Given the description of an element on the screen output the (x, y) to click on. 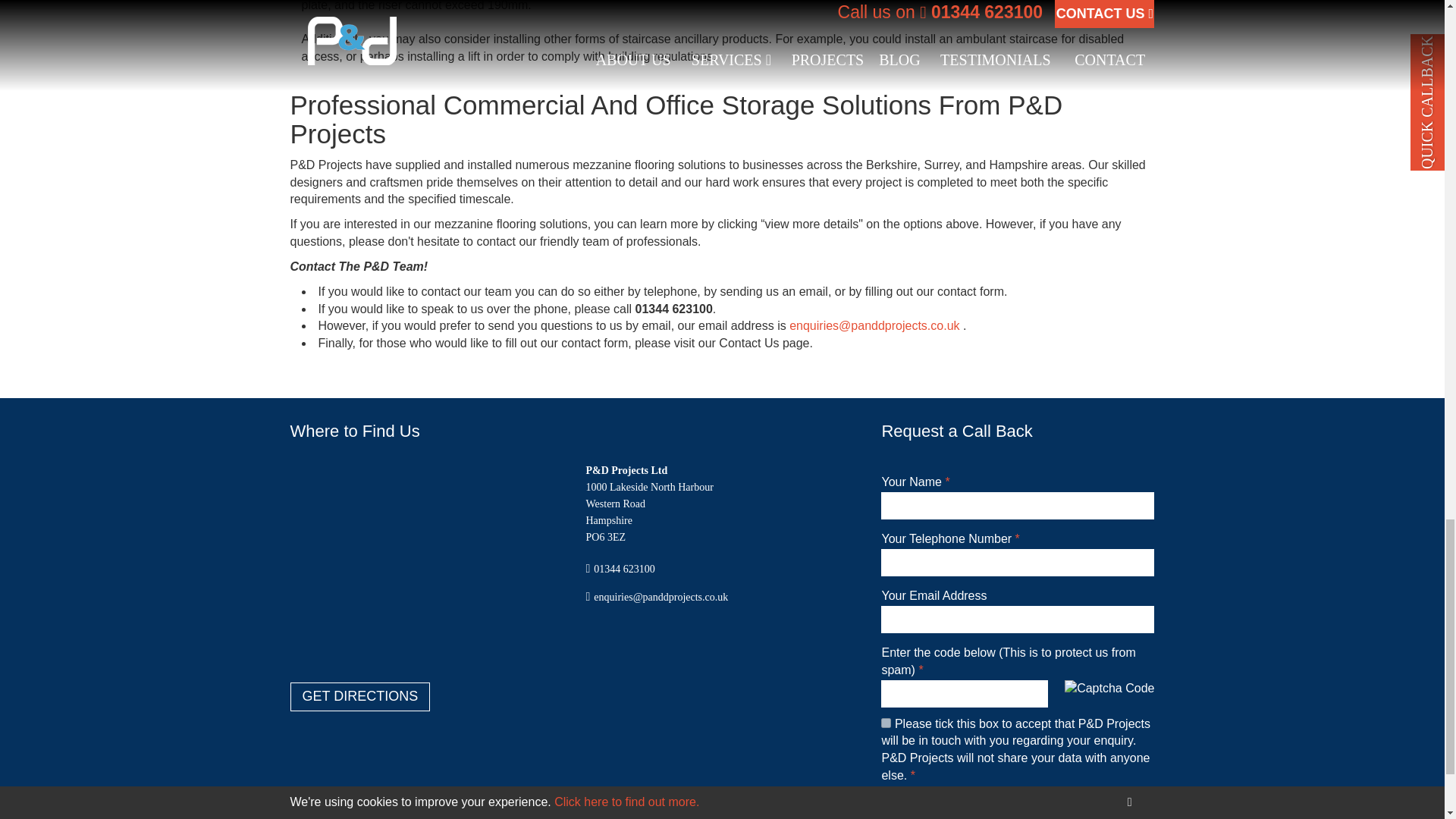
on (885, 723)
01344 623100 (624, 568)
GET DIRECTIONS (359, 696)
